Given the description of an element on the screen output the (x, y) to click on. 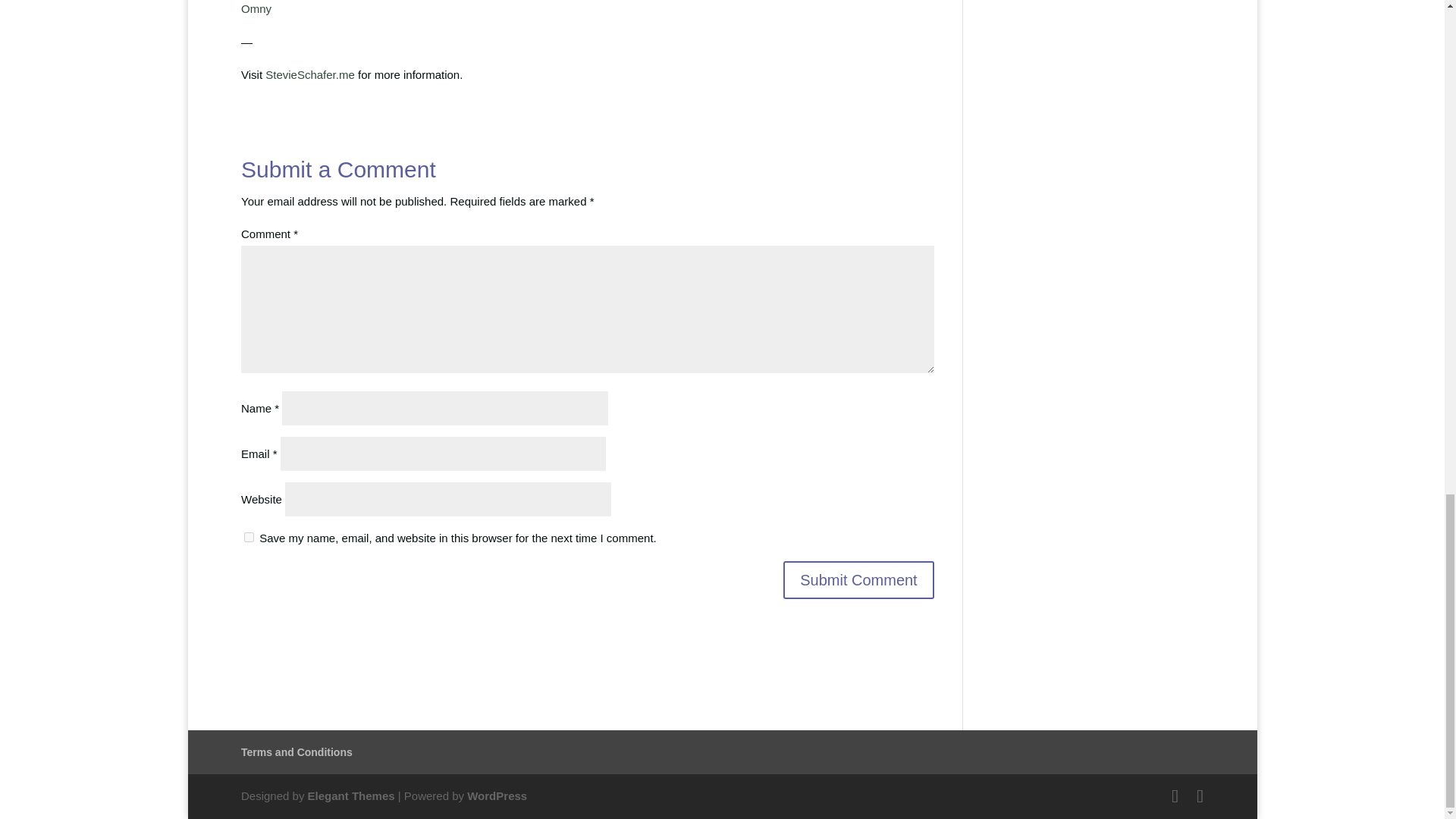
Terms and Conditions (296, 752)
Submit Comment (858, 579)
Submit Comment (858, 579)
WordPress (497, 795)
Premium WordPress Themes (350, 795)
Omny (255, 8)
Elegant Themes (350, 795)
StevieSchafer.me (309, 74)
yes (248, 537)
